Given the description of an element on the screen output the (x, y) to click on. 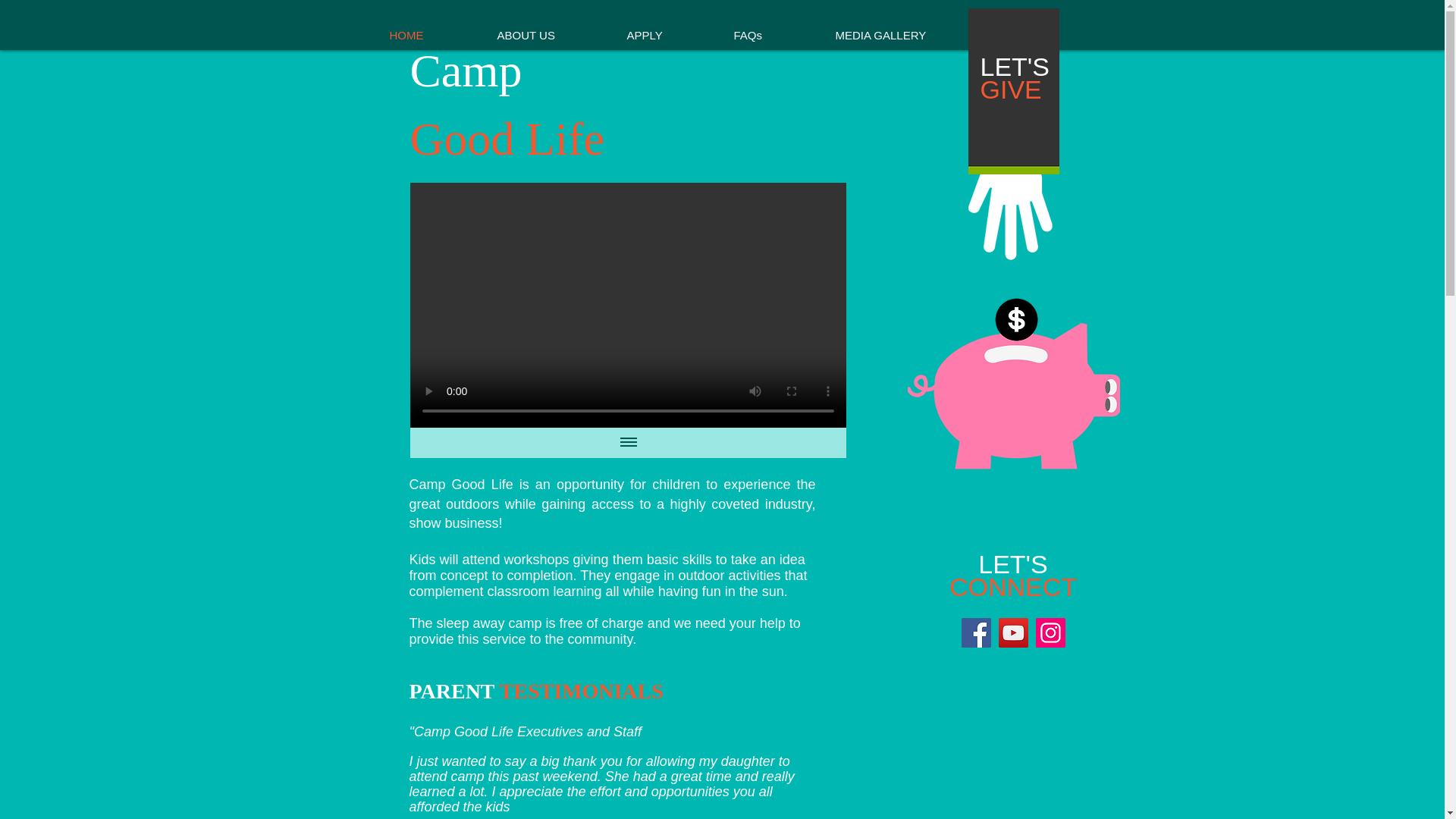
ABOUT US (546, 34)
MEDIA GALLERY (899, 34)
FAQs (770, 34)
HOME (427, 34)
